Given the description of an element on the screen output the (x, y) to click on. 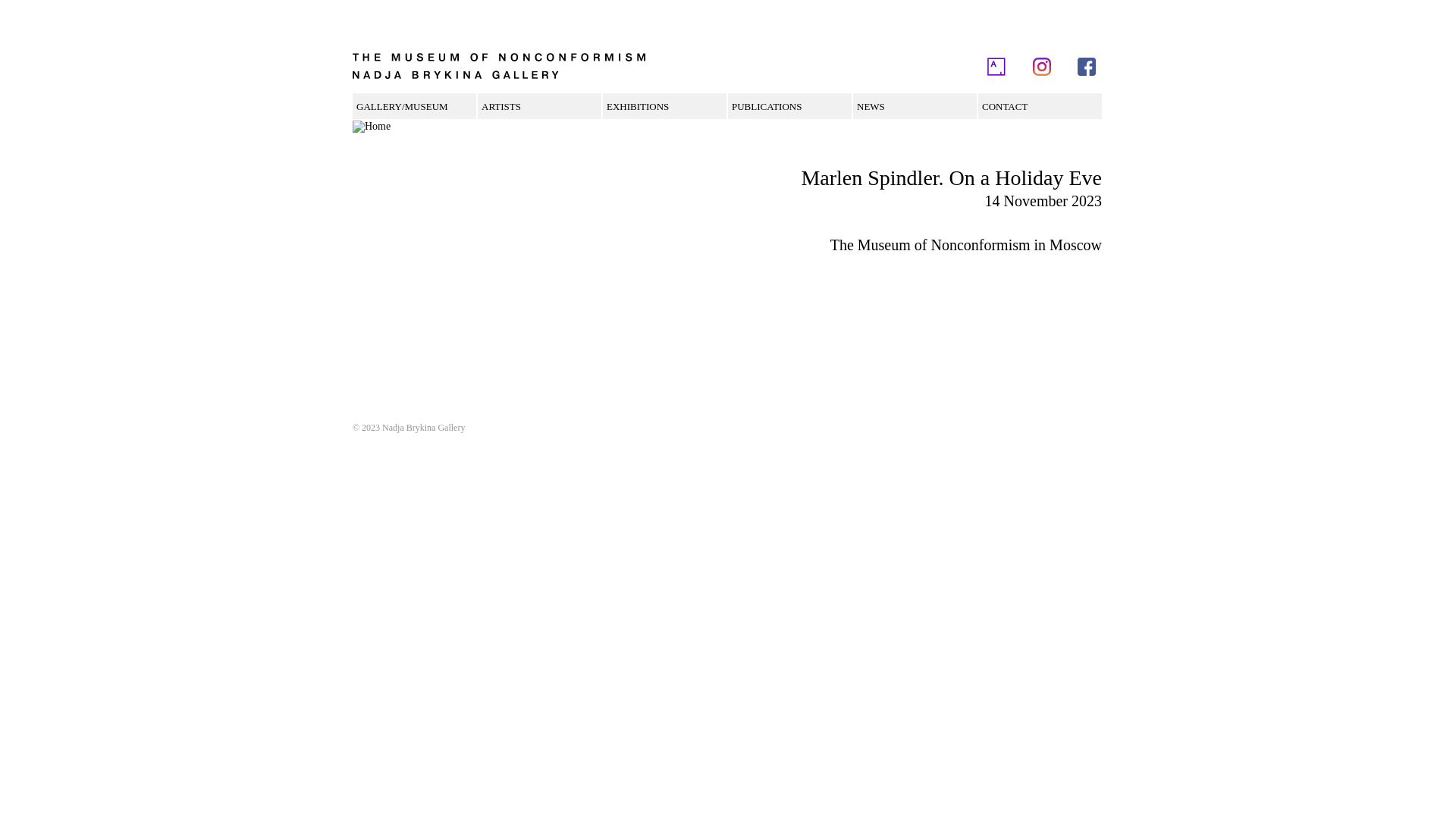
GALLERY/MUSEUM Element type: text (402, 106)
NEWS Element type: text (870, 106)
EXHIBITIONS Element type: text (637, 106)
CONTACT Element type: text (1004, 106)
ARTISTS Element type: text (500, 106)
PUBLICATIONS Element type: text (766, 106)
